Given the description of an element on the screen output the (x, y) to click on. 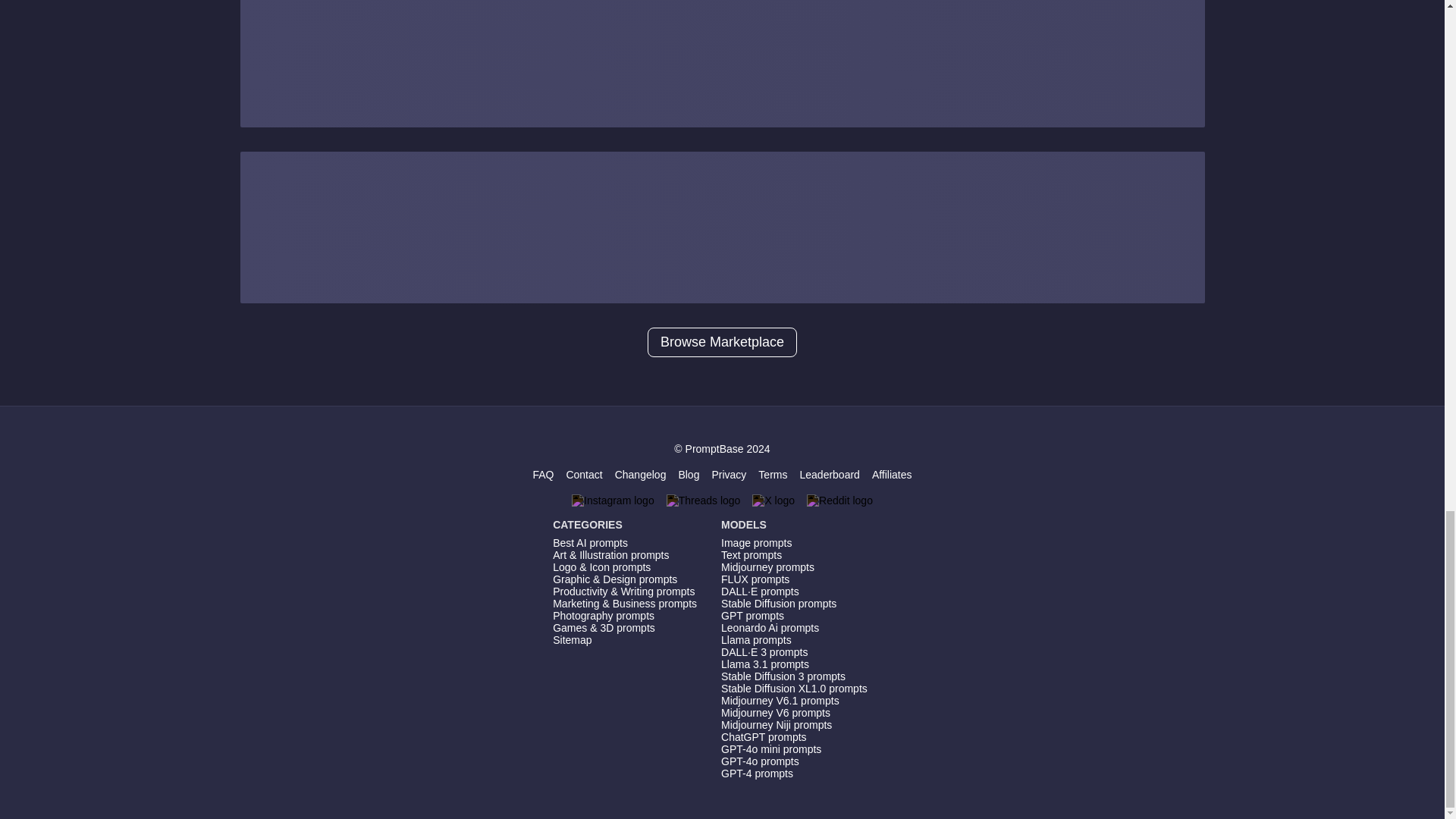
Best AI prompts (625, 542)
Photography prompts (625, 615)
Leaderboard (829, 474)
Text prompts (793, 554)
Affiliates (892, 474)
Privacy (728, 474)
Sitemap (625, 639)
FAQ (542, 474)
Terms (772, 474)
Contact (584, 474)
